Given the description of an element on the screen output the (x, y) to click on. 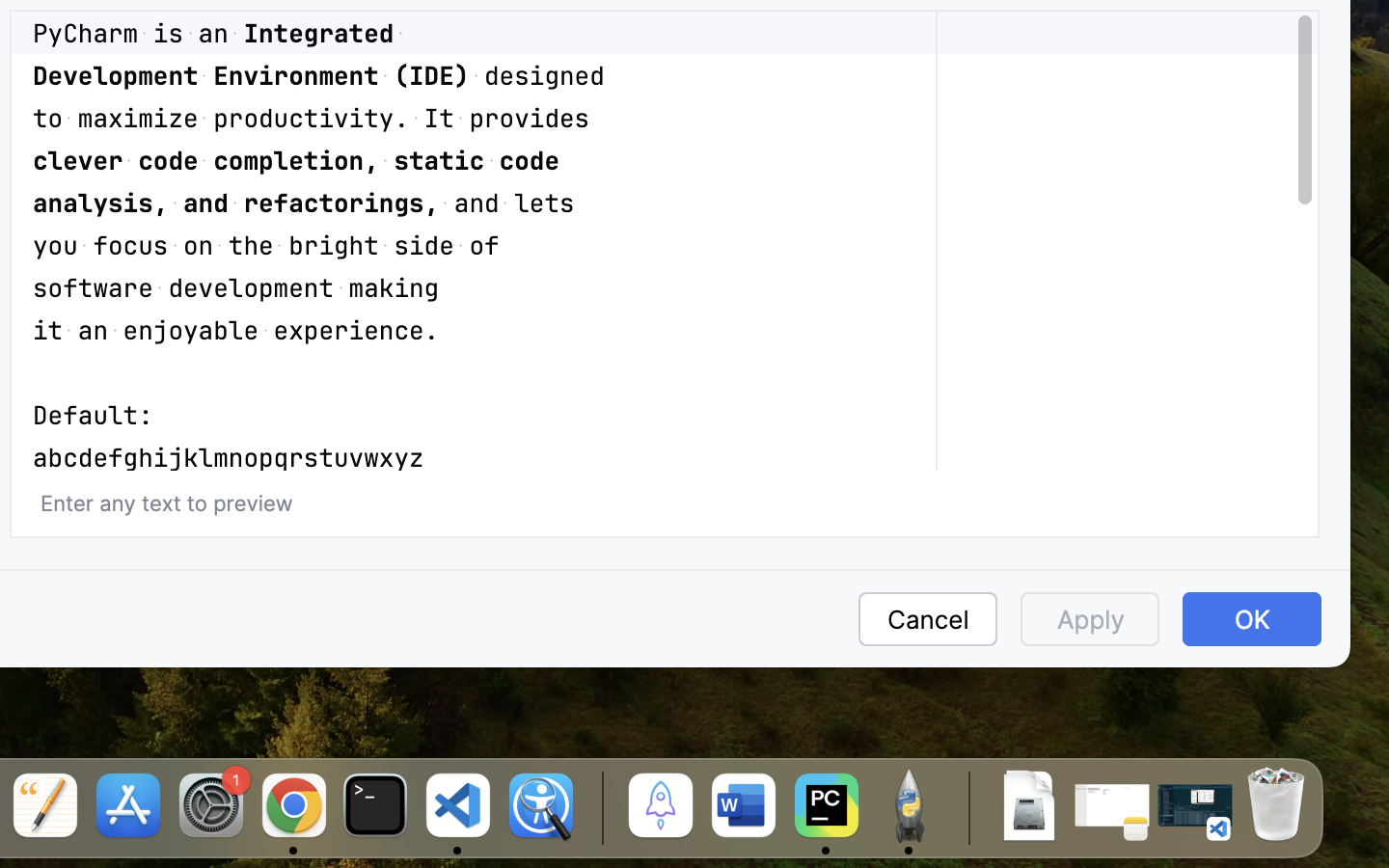
0.4285714328289032 Element type: AXDockItem (598, 807)
